Given the description of an element on the screen output the (x, y) to click on. 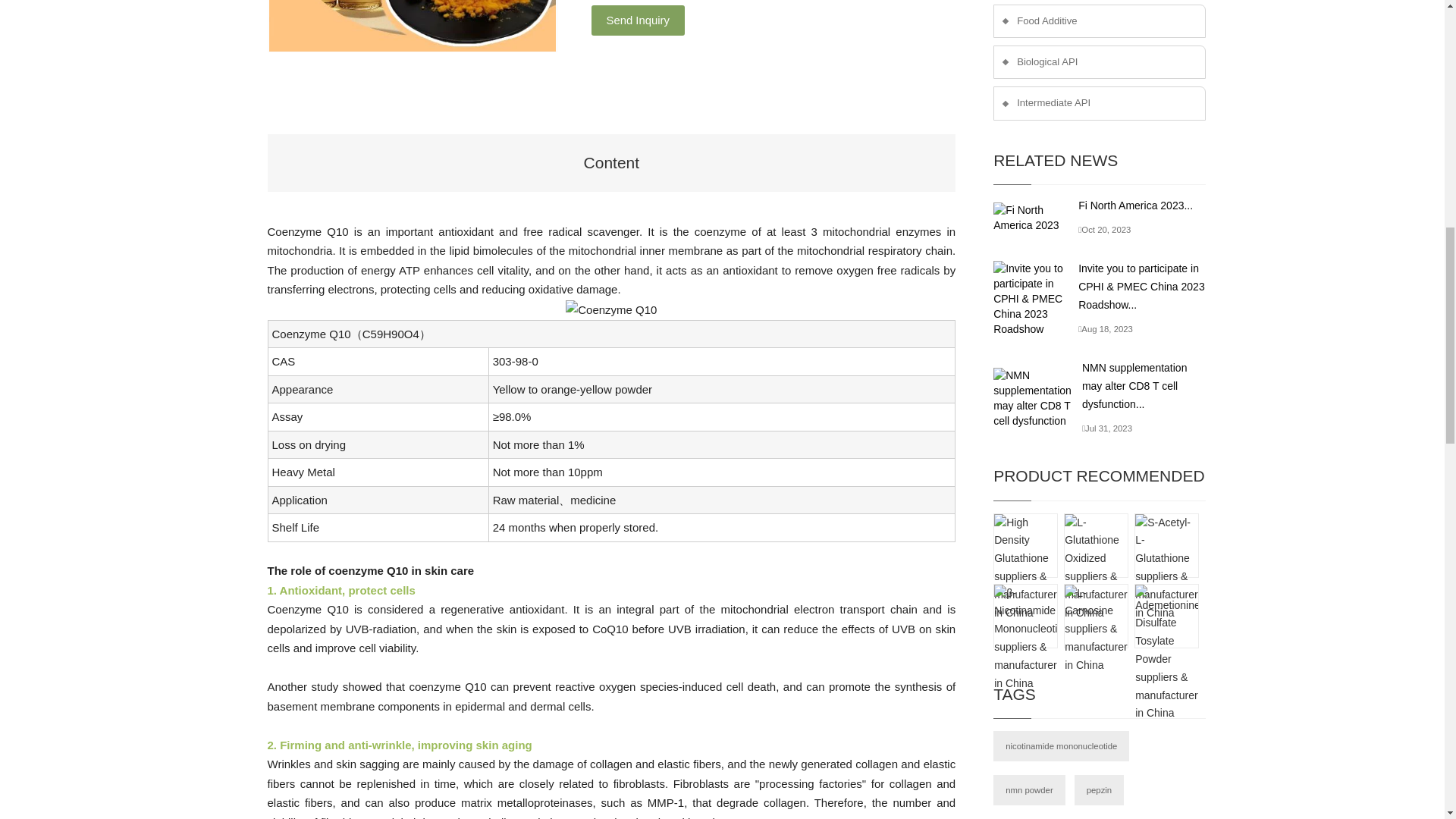
NMN supplementation may alter CD8 T cell dysfunction (1036, 397)
Coenzyme Q10 (611, 310)
Fi North America 2023 (1035, 217)
Send Inquiry (637, 20)
